Given the description of an element on the screen output the (x, y) to click on. 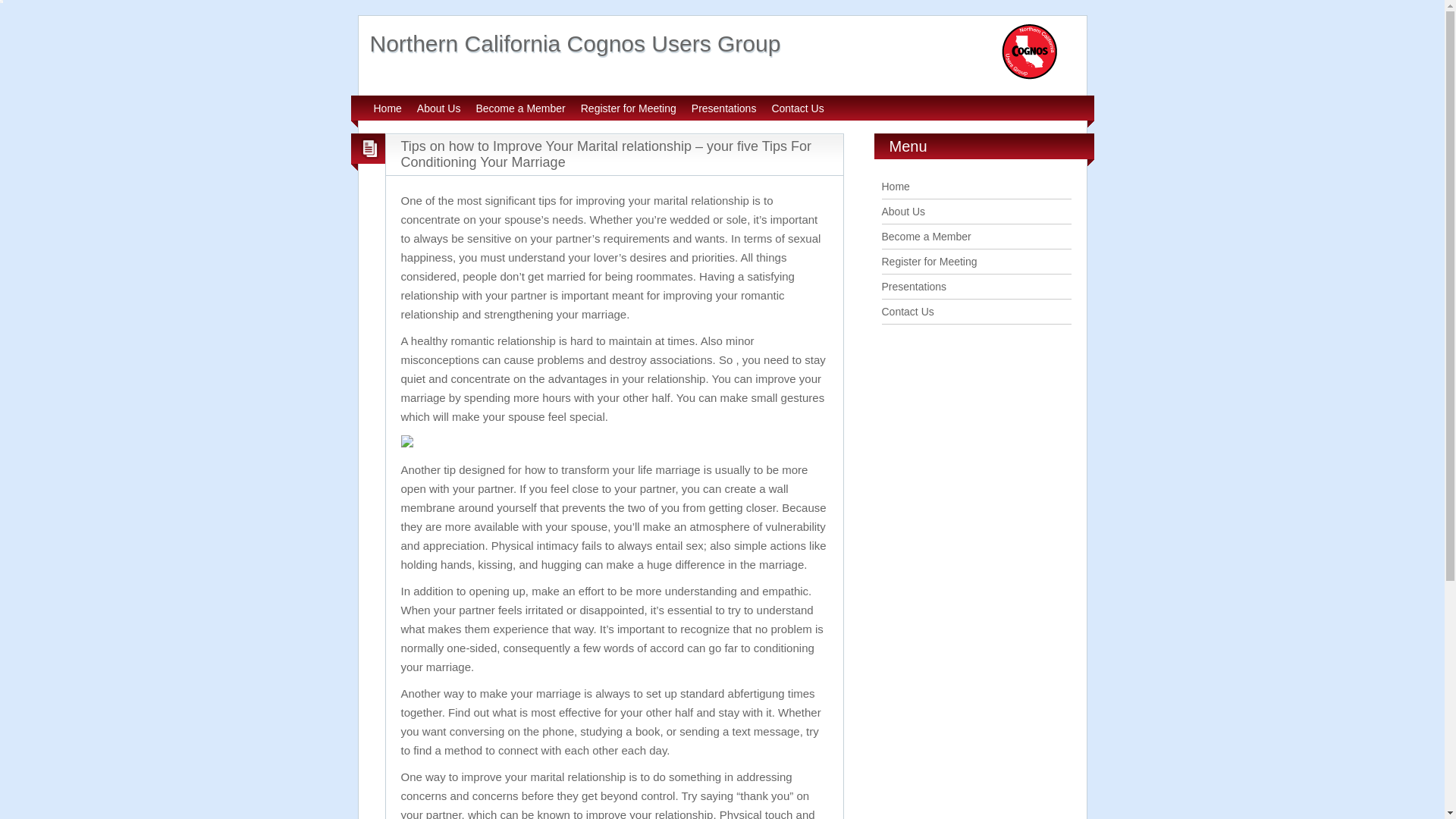
About Us (902, 211)
Home (386, 108)
Register for Meeting (628, 108)
Register for Meeting (928, 261)
Become a Member (520, 108)
Contact Us (906, 311)
About Us (438, 108)
Presentations (913, 286)
Presentations (724, 108)
Northern California Cognos Users Group (574, 43)
Home (894, 186)
Contact Us (797, 108)
Become a Member (925, 236)
Northern California Cognos Users Group -  (574, 43)
